Given the description of an element on the screen output the (x, y) to click on. 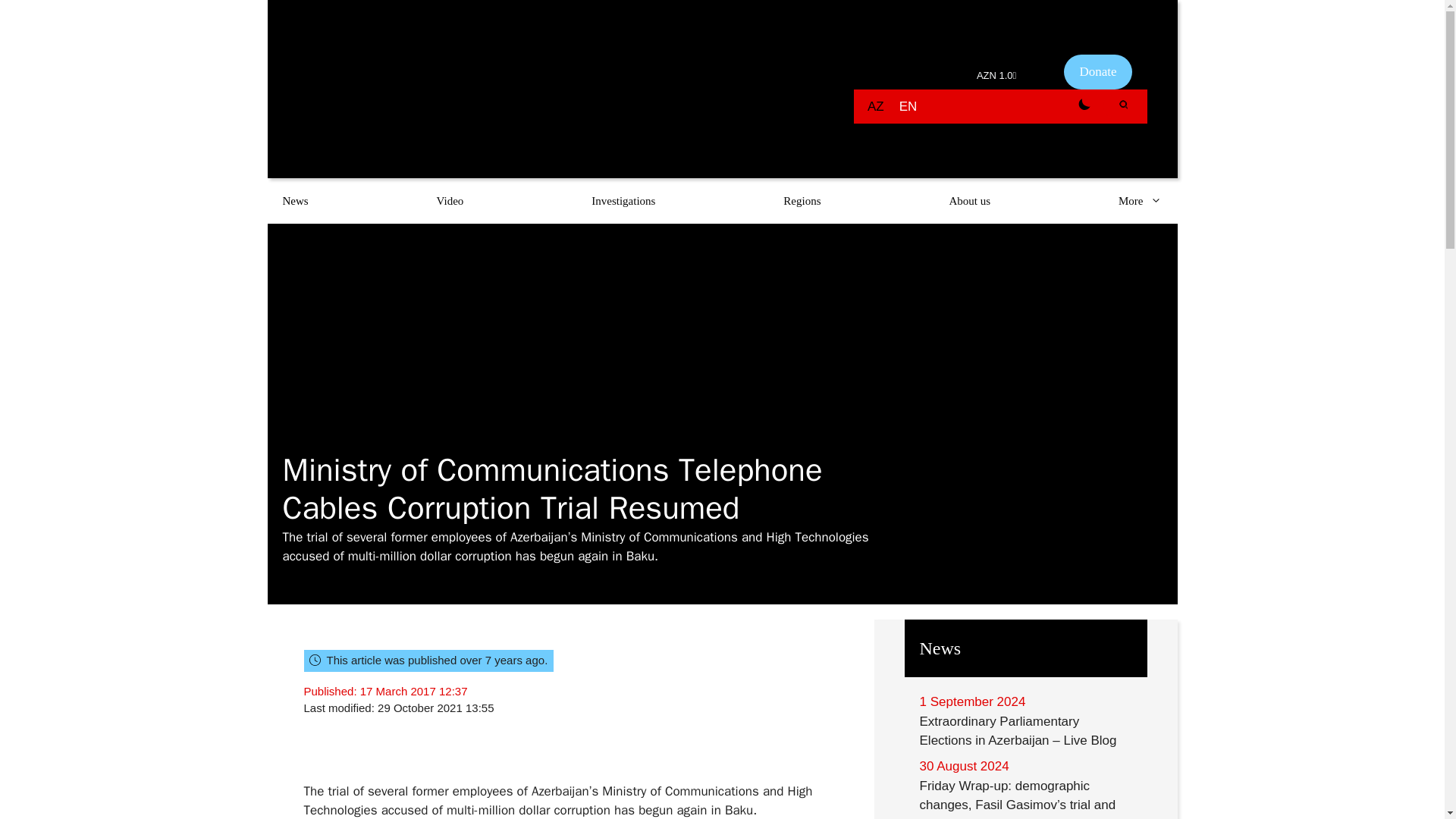
EN (907, 106)
News (294, 200)
More (1140, 200)
Regions (801, 200)
Investigations (622, 200)
AZ (875, 106)
Donate (1097, 71)
Video (450, 200)
About us (969, 200)
